Given the description of an element on the screen output the (x, y) to click on. 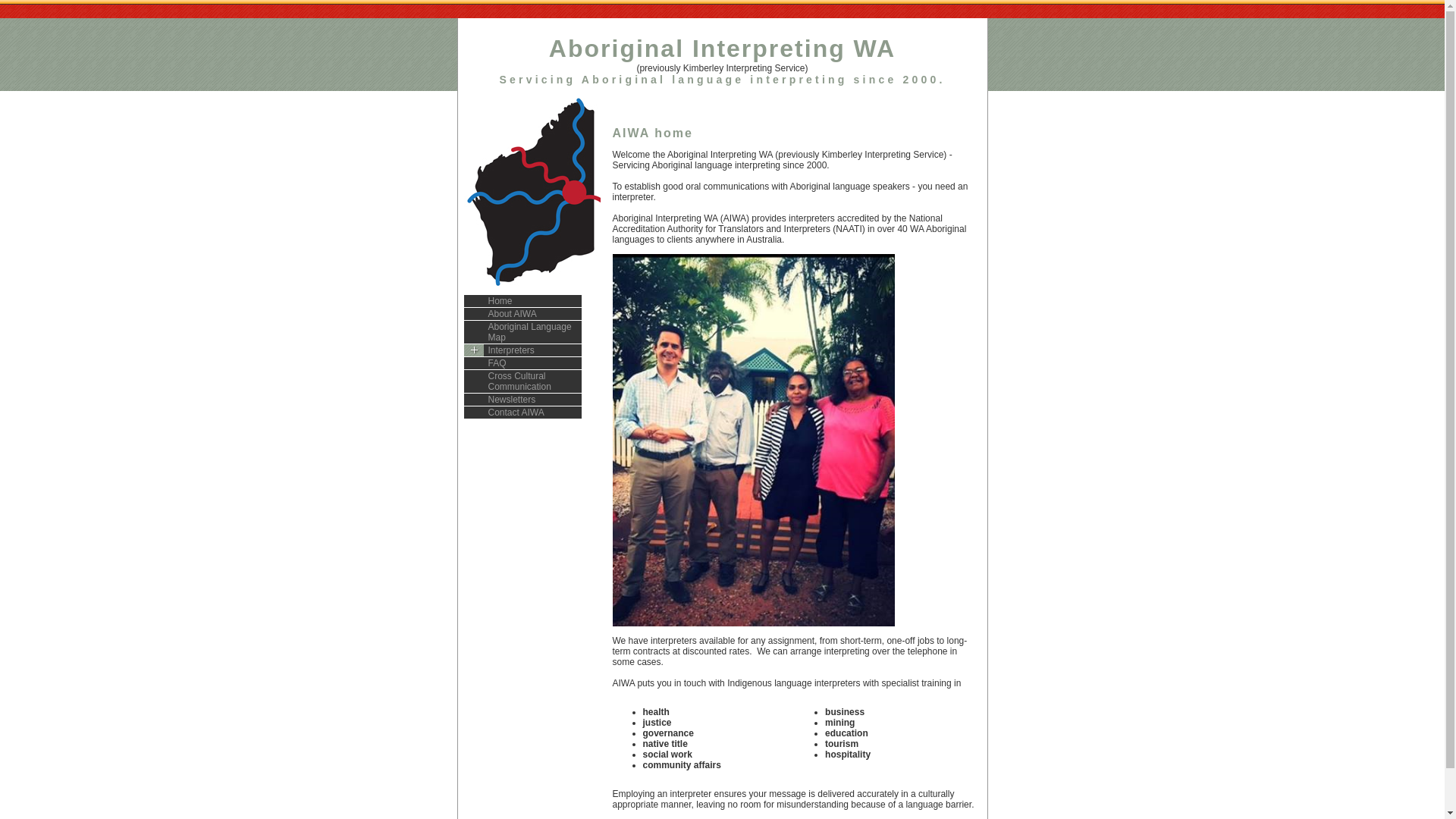
Contact AIWA Element type: text (522, 412)
Home Element type: text (522, 300)
Cross Cultural Communication Element type: text (522, 381)
Interpreters Element type: text (522, 350)
About AIWA Element type: text (522, 313)
Aboriginal Language Map Element type: text (522, 332)
FAQ Element type: text (522, 363)
Newsletters Element type: text (522, 399)
